Given the description of an element on the screen output the (x, y) to click on. 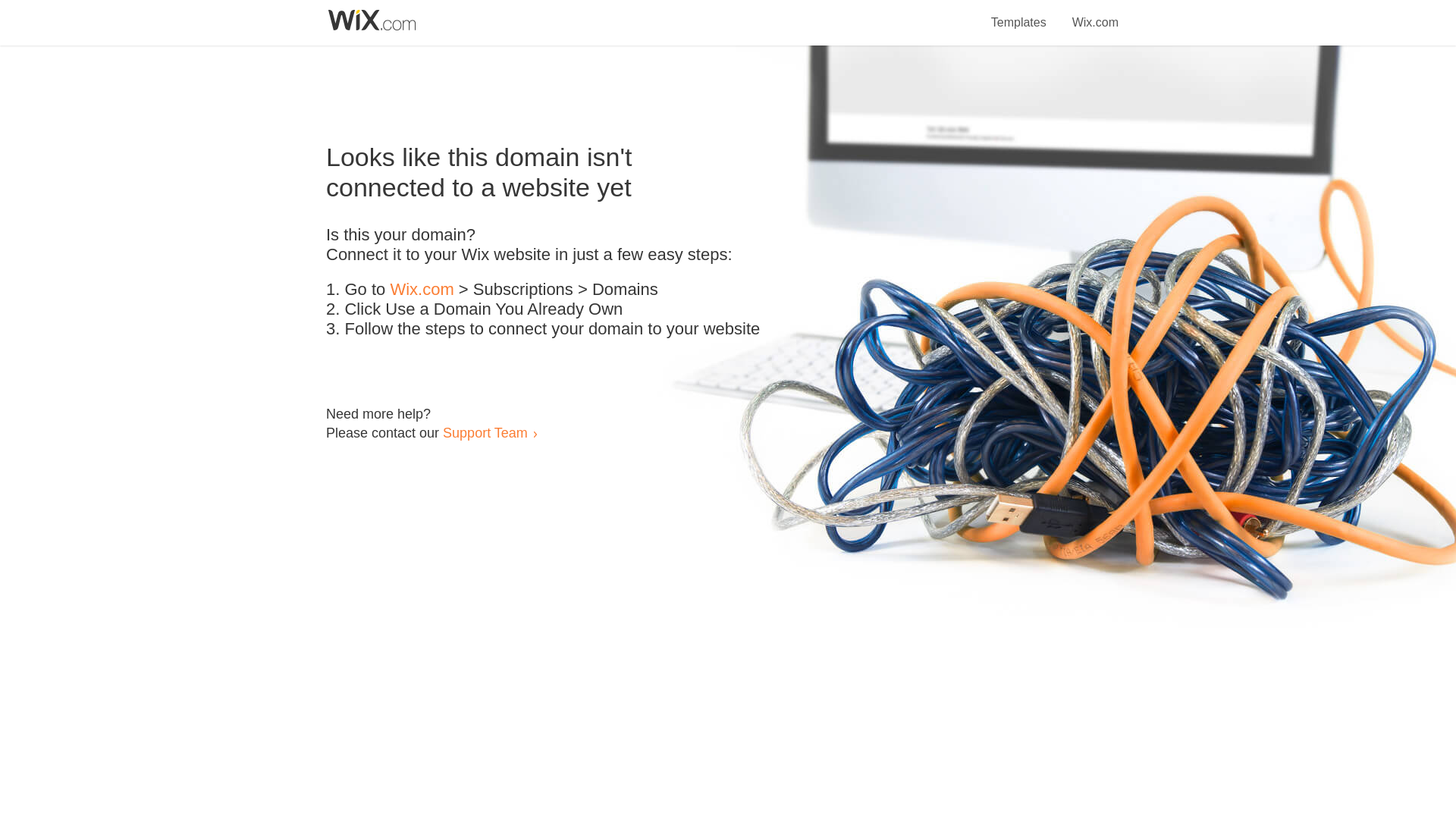
Support Team (484, 432)
Wix.com (421, 289)
Wix.com (1095, 14)
Templates (1018, 14)
